Given the description of an element on the screen output the (x, y) to click on. 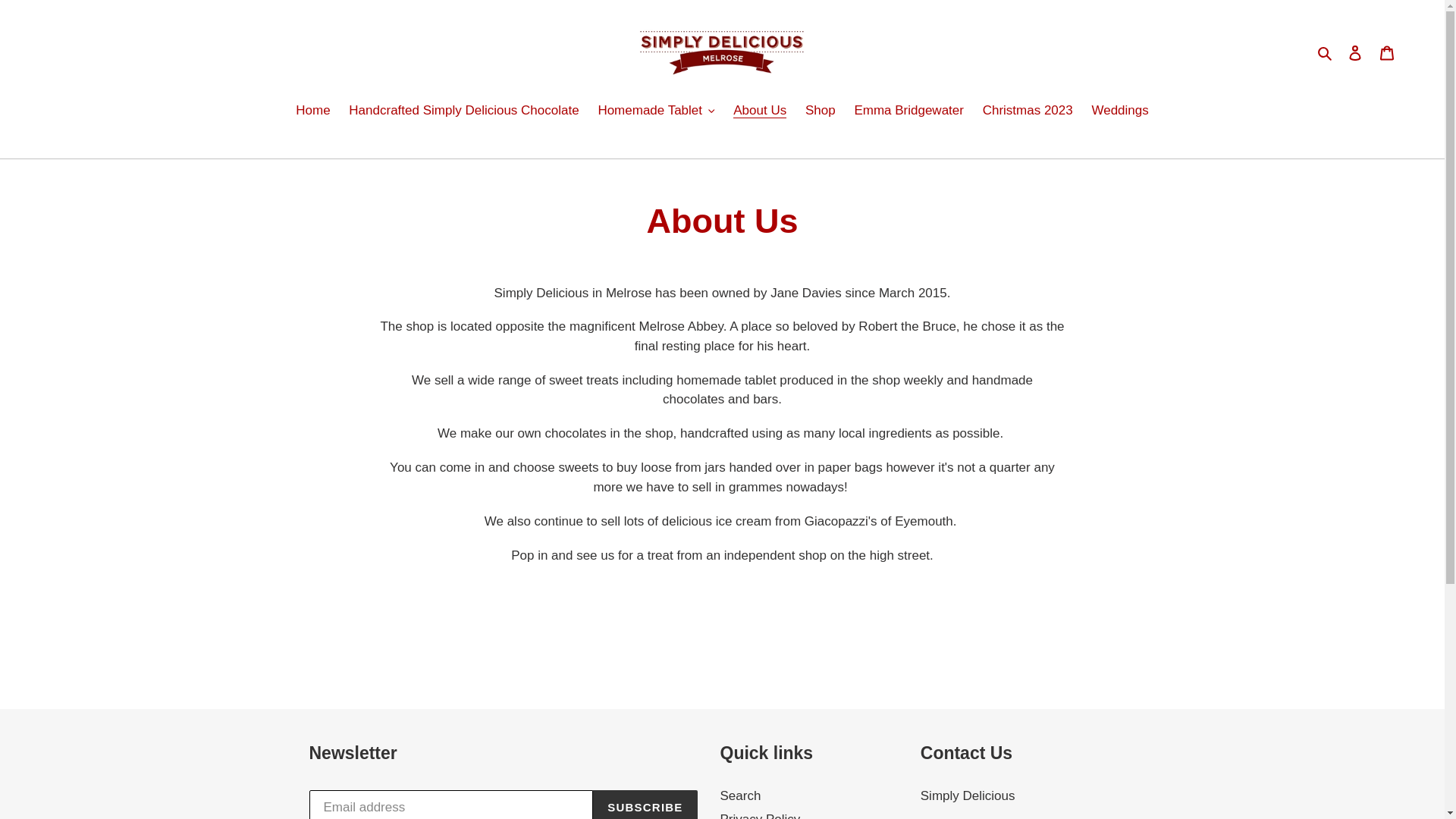
Weddings (1119, 111)
About Us (759, 111)
Homemade Tablet (655, 111)
Privacy Policy (760, 815)
Search (1326, 52)
Cart (1387, 52)
Home (312, 111)
Shop (820, 111)
Search (740, 795)
Emma Bridgewater (908, 111)
